Given the description of an element on the screen output the (x, y) to click on. 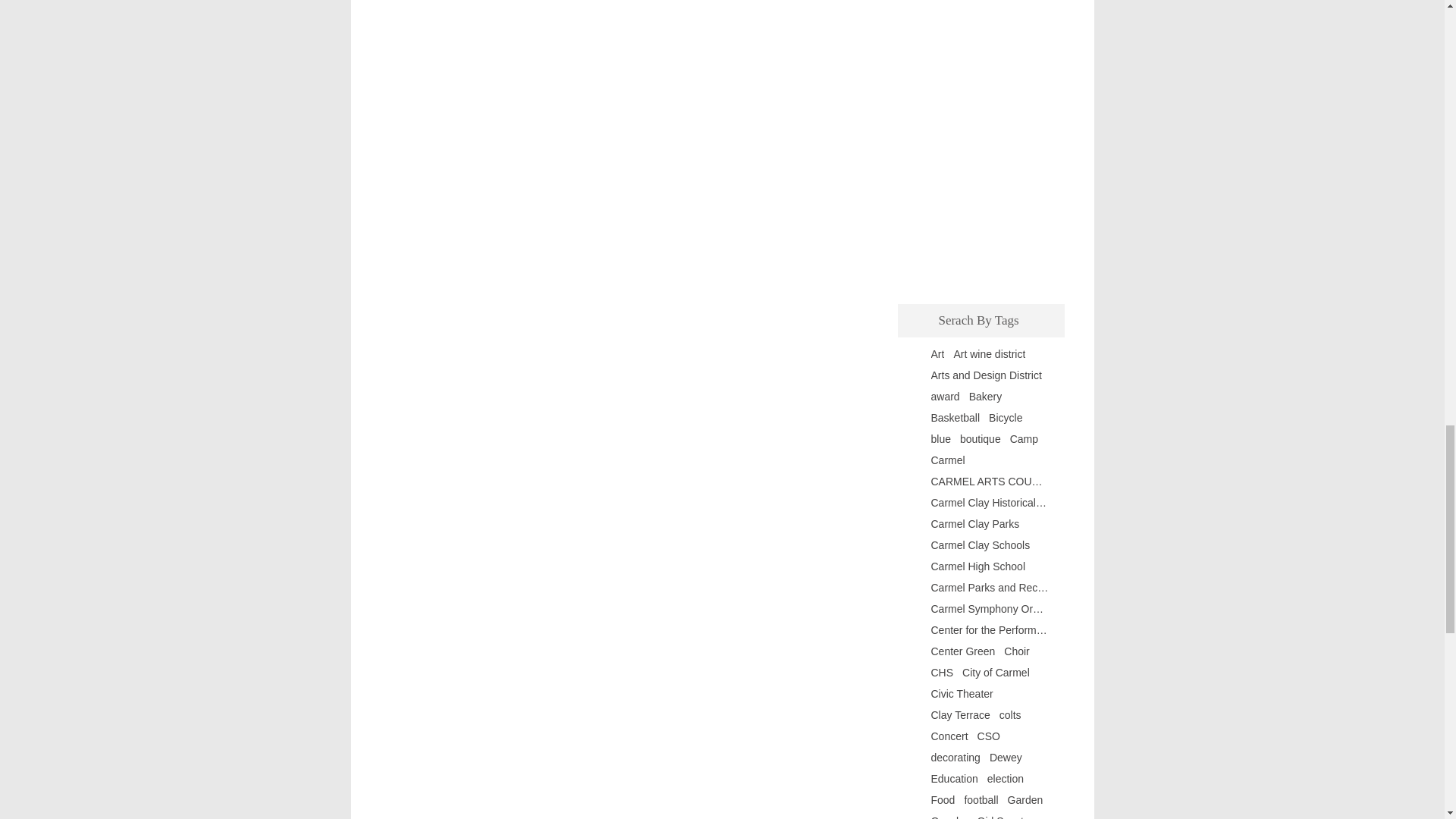
Carmel Clay Historical Society (989, 502)
Camp (1024, 439)
Art (937, 354)
Bicycle (1005, 417)
boutique (980, 439)
Art wine district (989, 354)
Carmel Clay Schools (980, 544)
Carmel (948, 460)
CARMEL ARTS COUNCIL (989, 481)
Bakery (986, 396)
blue (940, 439)
Carmel Clay Parks (975, 523)
Arts and Design District (986, 375)
Basketball (955, 417)
award (945, 396)
